Given the description of an element on the screen output the (x, y) to click on. 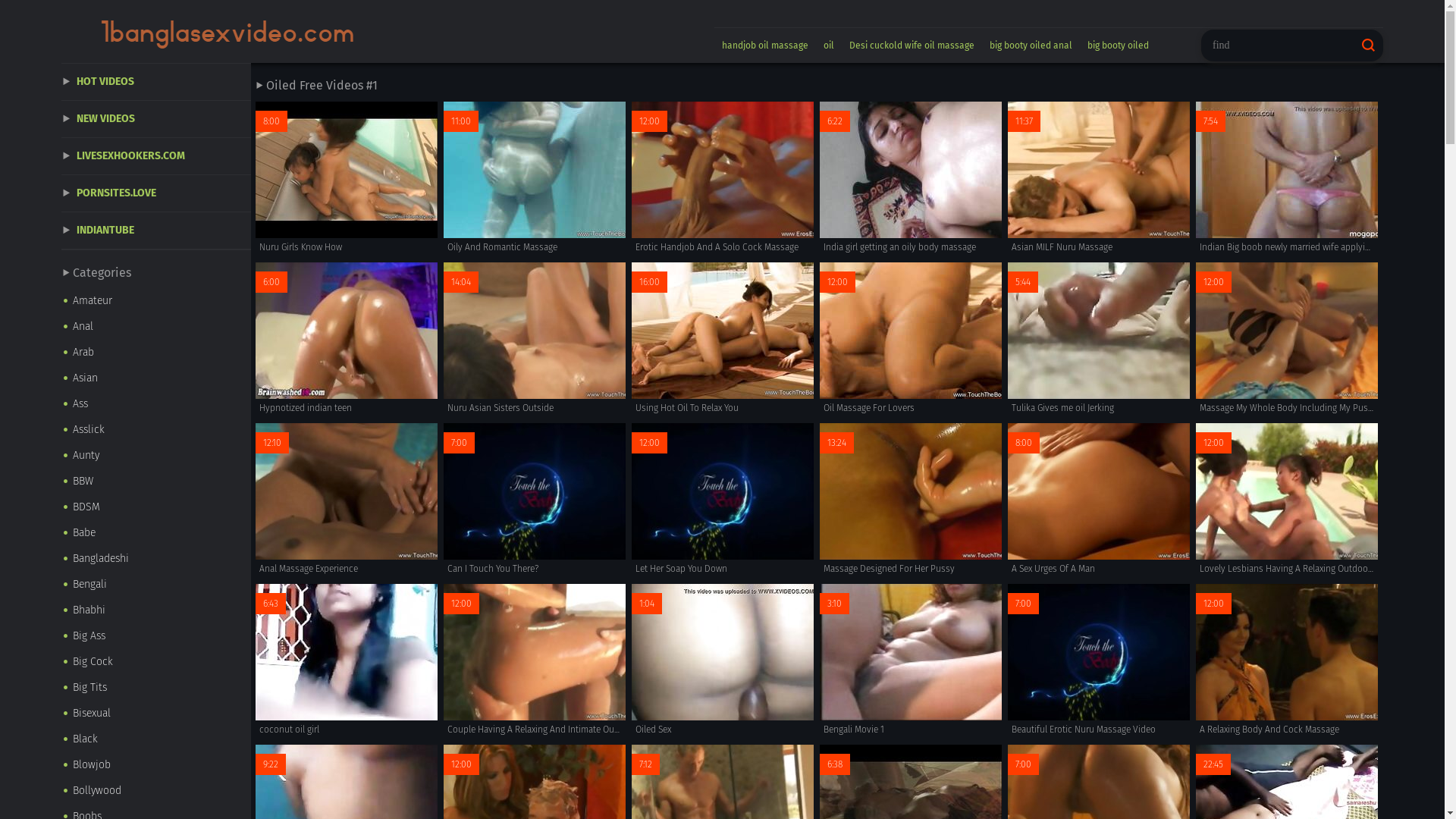
INDIANTUBE Element type: text (156, 230)
Asslick Element type: text (156, 429)
12:00
Massage My Whole Body Including My Pussy Element type: text (1286, 339)
5:44
Tulika Gives me oil Jerking Element type: text (1098, 339)
11:37
Asian MILF Nuru Massage Element type: text (1098, 178)
1:04
Oiled Sex Element type: text (722, 660)
8:00
Nuru Girls Know How Element type: text (346, 178)
Bangladeshi Element type: text (156, 558)
Bisexual Element type: text (156, 713)
14:04
Nuru Asian Sisters Outside Element type: text (534, 339)
LIVESEXHOOKERS.COM Element type: text (156, 156)
7:00
Can I Touch You There? Element type: text (534, 500)
Big Ass Element type: text (156, 636)
handjob oil massage Element type: text (764, 45)
BDSM Element type: text (156, 507)
13:24
Massage Designed For Her Pussy Element type: text (910, 500)
Ass Element type: text (156, 404)
12:10
Anal Massage Experience Element type: text (346, 500)
oil Element type: text (828, 45)
8:00
A Sex Urges Of A Man Element type: text (1098, 500)
Bollywood Element type: text (156, 790)
Bhabhi Element type: text (156, 610)
Black Element type: text (156, 739)
Blowjob Element type: text (156, 765)
Desi cuckold wife oil massage Element type: text (911, 45)
12:00
Oil Massage For Lovers Element type: text (910, 339)
12:00
A Relaxing Body And Cock Massage Element type: text (1286, 660)
Aunty Element type: text (156, 455)
12:00
Couple Having A Relaxing And Intimate Outdoor Sex Element type: text (534, 660)
Bengali Element type: text (156, 584)
12:00
Let Her Soap You Down Element type: text (722, 500)
6:22
India girl getting an oily body massage Element type: text (910, 178)
12:00
Erotic Handjob And A Solo Cock Massage Element type: text (722, 178)
Big Cock Element type: text (156, 661)
Babe Element type: text (156, 533)
11:00
Oily And Romantic Massage Element type: text (534, 178)
Asian Element type: text (156, 378)
PORNSITES.LOVE Element type: text (156, 193)
3:10
Bengali Movie 1 Element type: text (910, 660)
7:00
Beautiful Erotic Nuru Massage Video Element type: text (1098, 660)
12:00
Lovely Lesbians Having A Relaxing Outdoor Moment Element type: text (1286, 500)
NEW VIDEOS Element type: text (156, 119)
Amateur Element type: text (156, 300)
Big Tits Element type: text (156, 687)
6:00
Hypnotized indian teen Element type: text (346, 339)
big booty oiled Element type: text (1117, 45)
HOT VIDEOS Element type: text (156, 81)
big booty oiled anal Element type: text (1030, 45)
6:43
coconut oil girl Element type: text (346, 660)
BBW Element type: text (156, 481)
16:00
Using Hot Oil To Relax You Element type: text (722, 339)
Arab Element type: text (156, 352)
Anal Element type: text (156, 326)
